Given the description of an element on the screen output the (x, y) to click on. 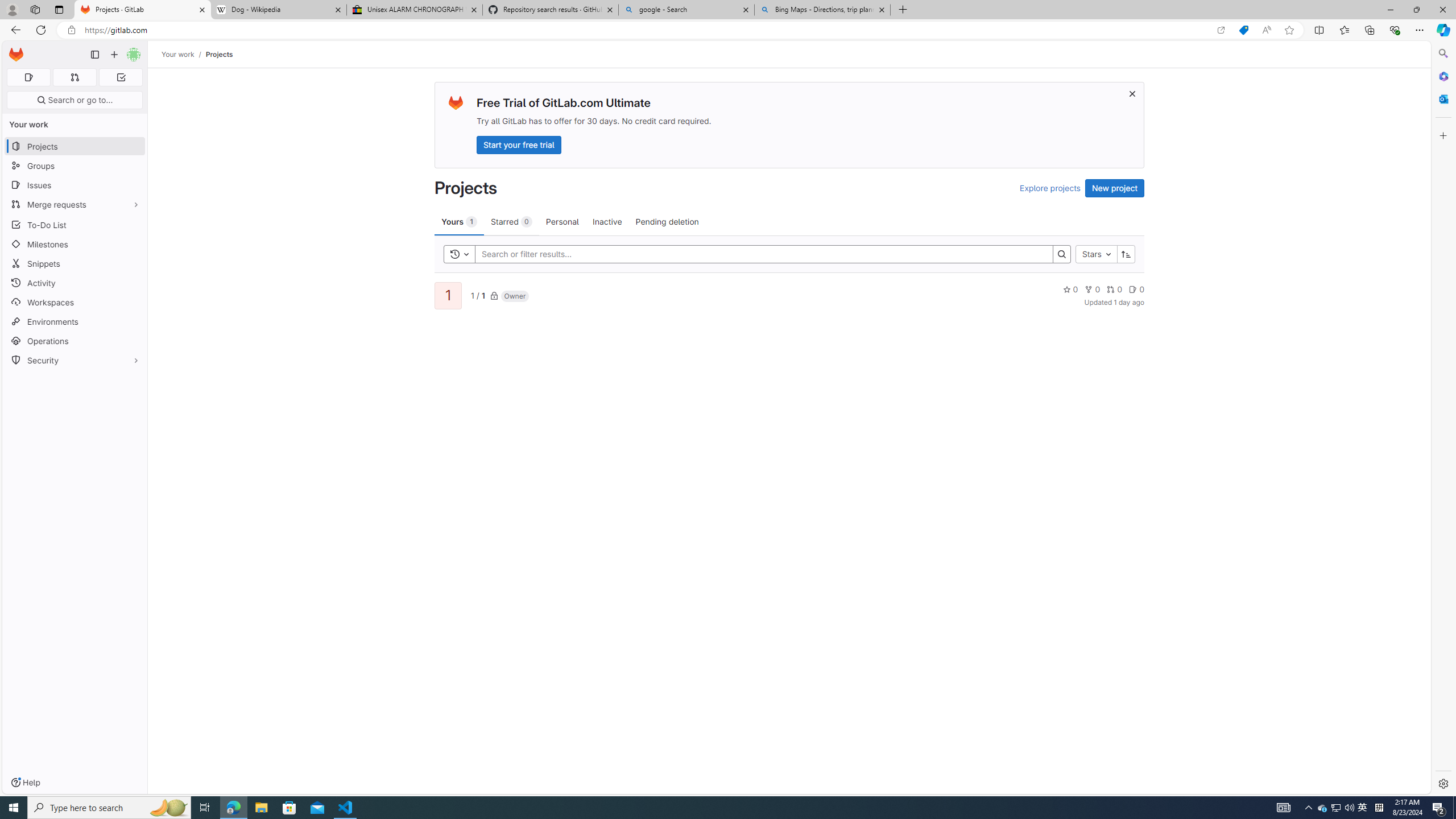
Projects (218, 53)
